Given the description of an element on the screen output the (x, y) to click on. 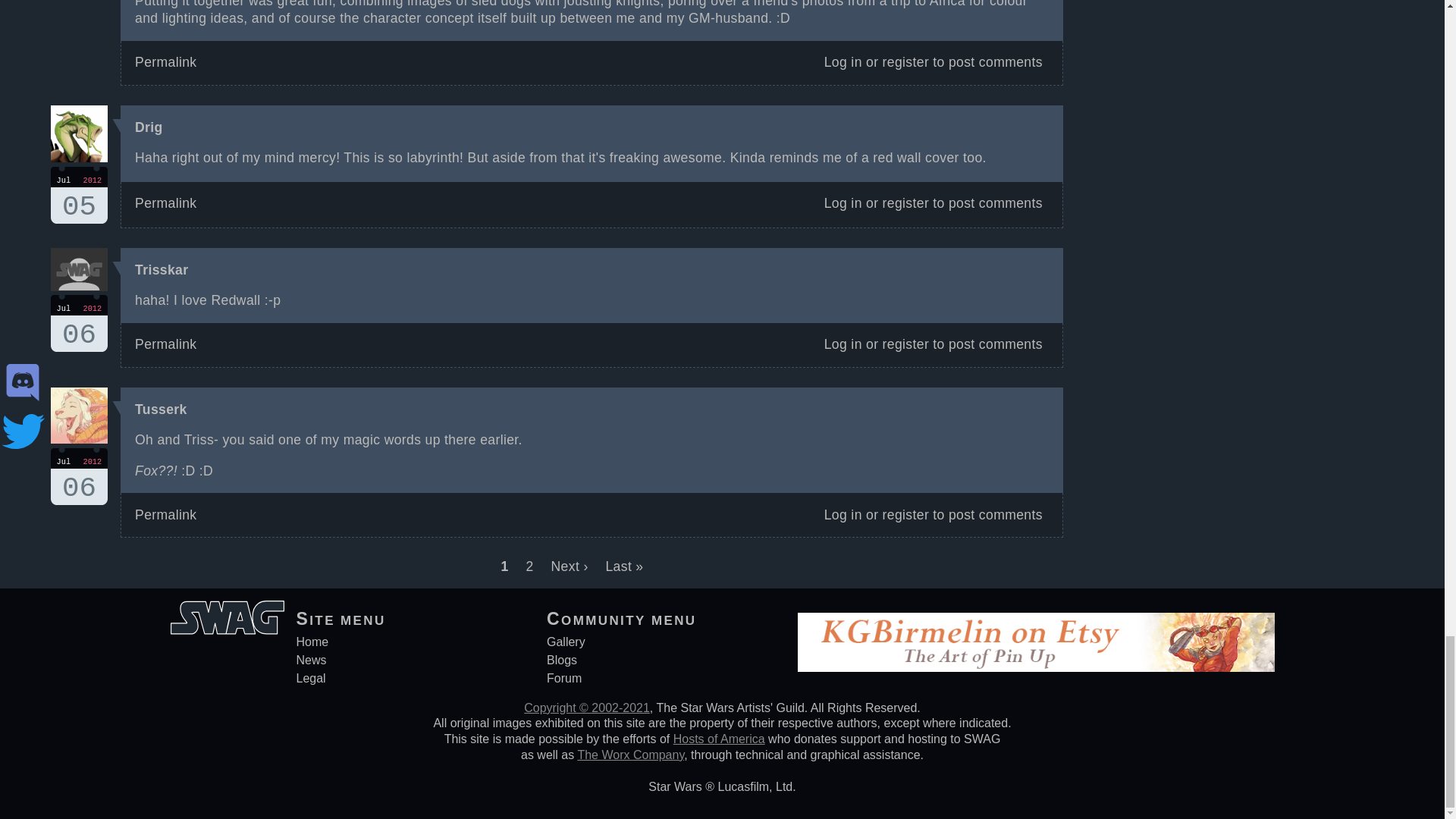
View user profile. (149, 127)
Current page (78, 323)
Go to last page (504, 566)
View user profile. (624, 566)
Go to next page (78, 195)
View user profile. (161, 269)
Go to page 2 (78, 476)
